Given the description of an element on the screen output the (x, y) to click on. 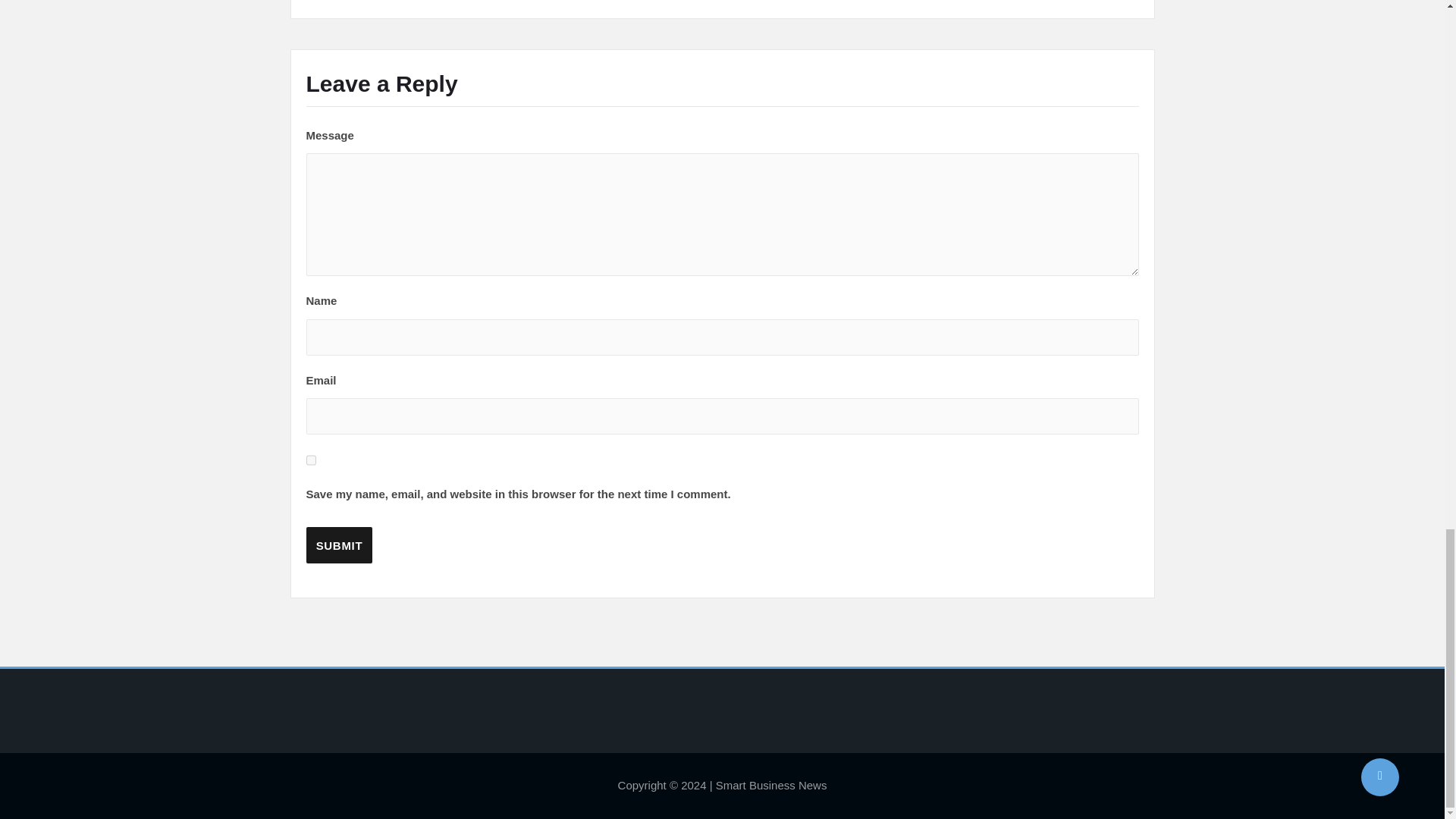
Submit (338, 545)
Submit (338, 545)
